Given the description of an element on the screen output the (x, y) to click on. 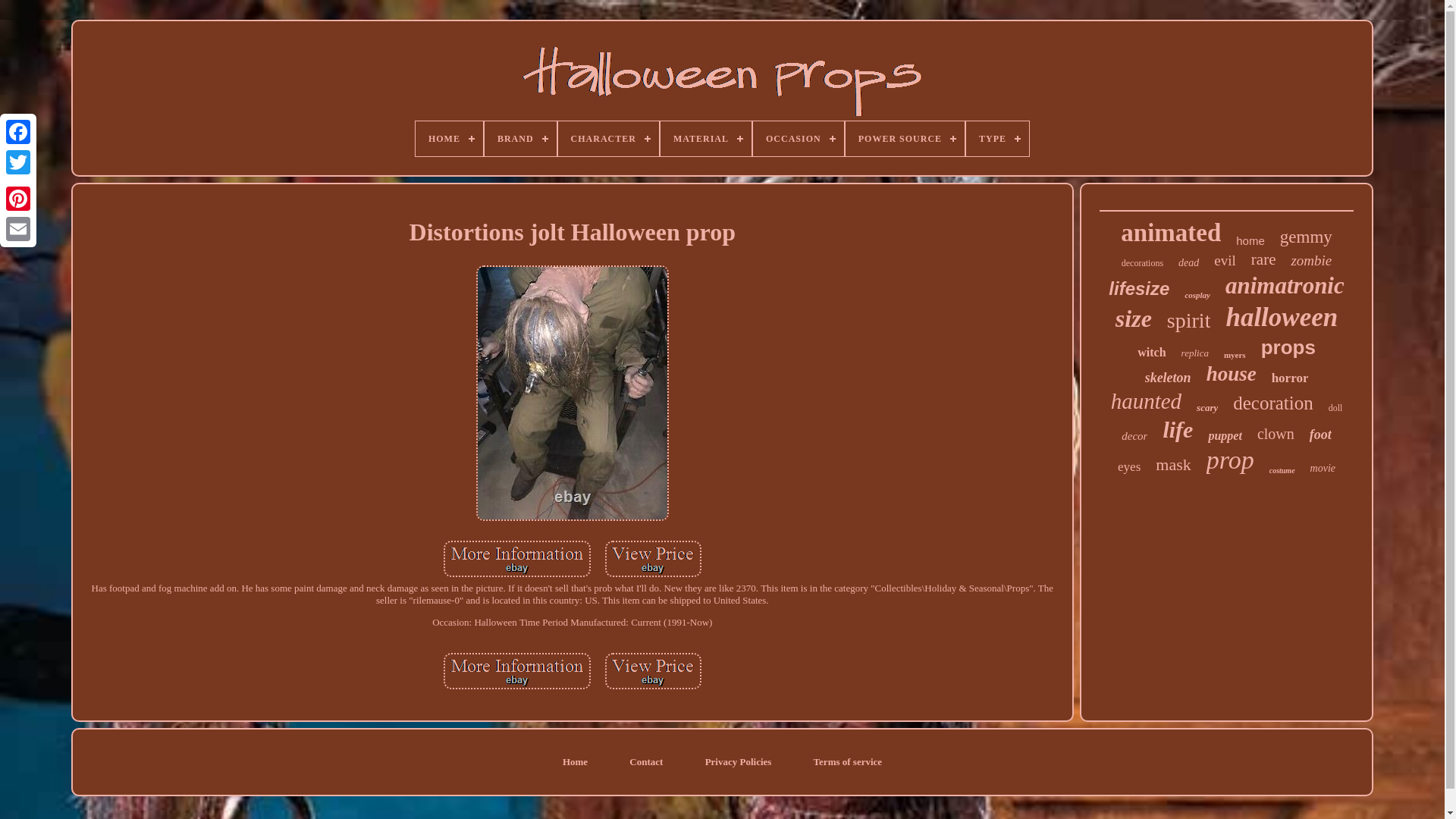
CHARACTER (608, 138)
Distortions jolt Halloween prop (653, 558)
Distortions jolt Halloween prop (653, 670)
BRAND (520, 138)
Distortions jolt Halloween prop (517, 670)
HOME (448, 138)
Distortions jolt Halloween prop (517, 558)
